Given the description of an element on the screen output the (x, y) to click on. 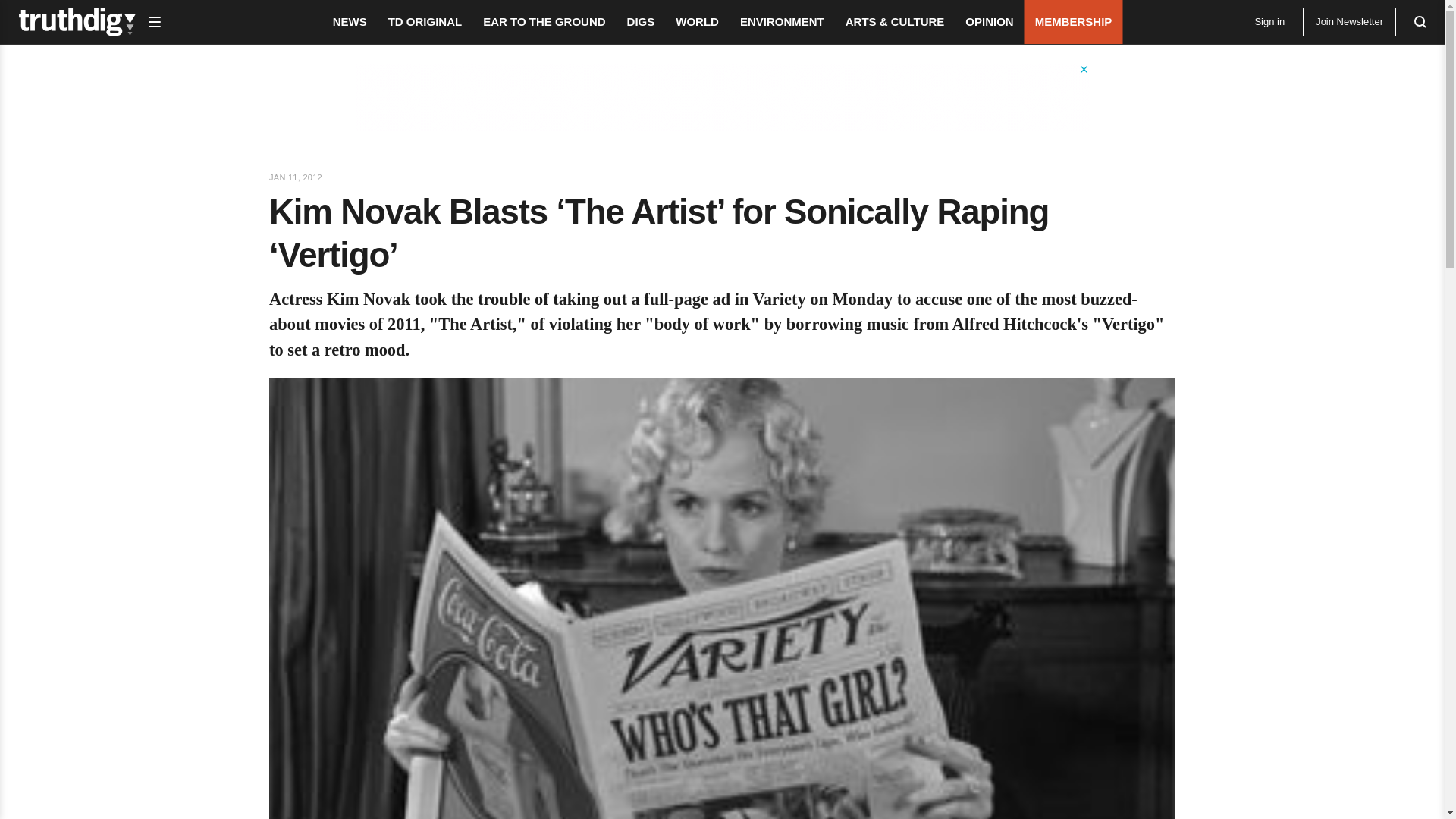
3rd party ad content (722, 97)
